Given the description of an element on the screen output the (x, y) to click on. 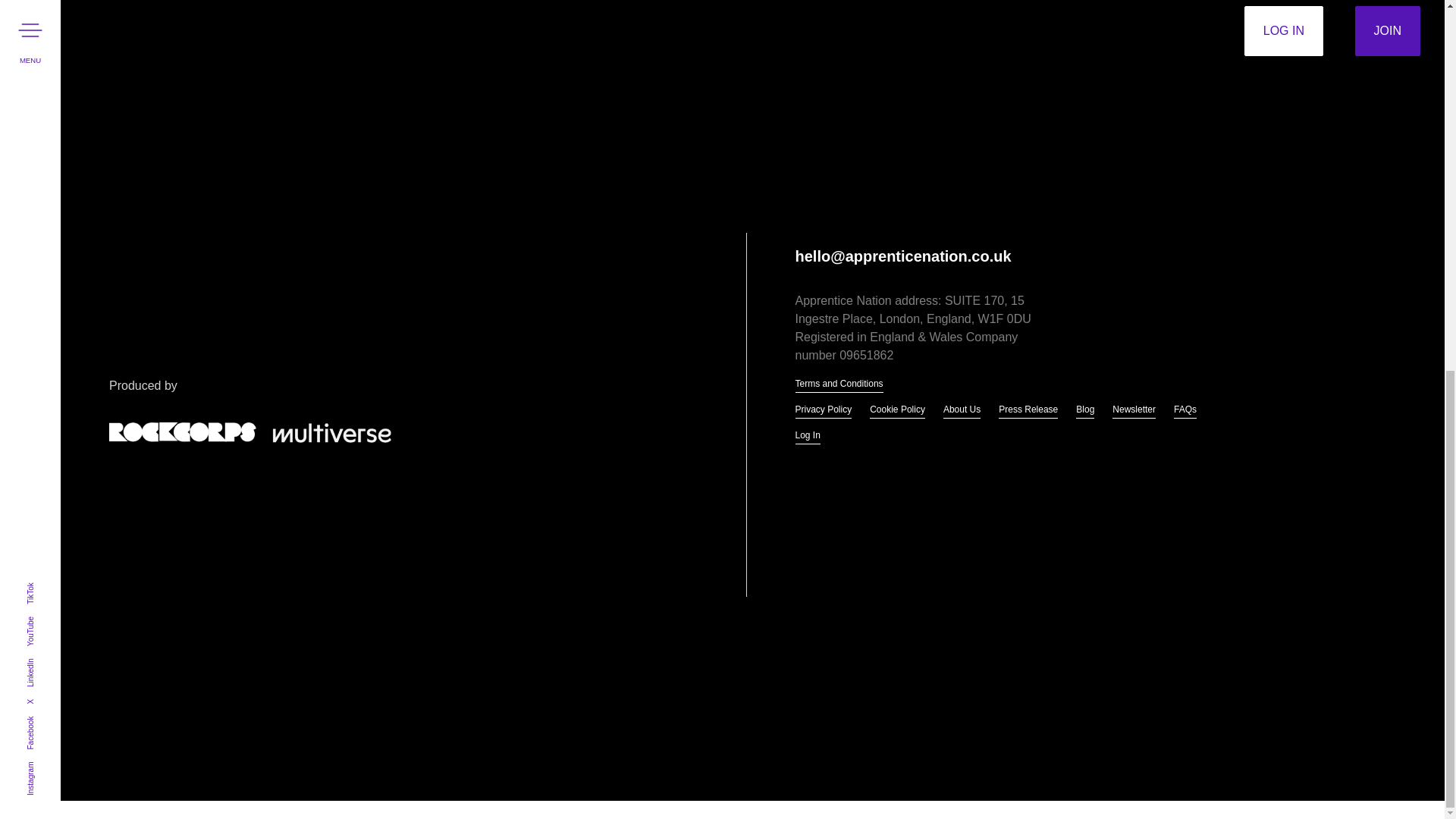
JOIN (1388, 30)
Facebook (42, 45)
Privacy Policy (822, 411)
LOG IN (1283, 30)
Terms and Conditions (838, 385)
Instagram (42, 90)
Cookie Policy (896, 411)
About Us (961, 411)
